Given the description of an element on the screen output the (x, y) to click on. 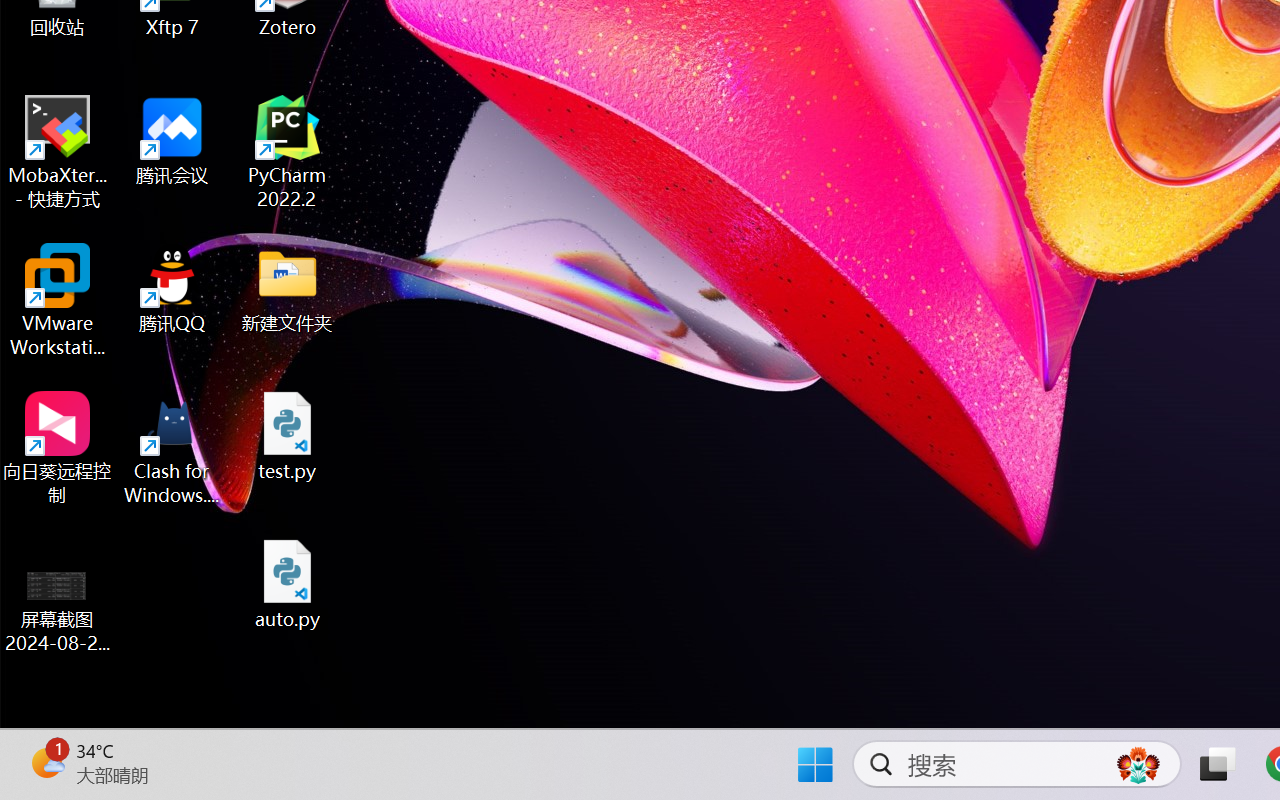
VMware Workstation Pro (57, 300)
test.py (287, 436)
auto.py (287, 584)
